Given the description of an element on the screen output the (x, y) to click on. 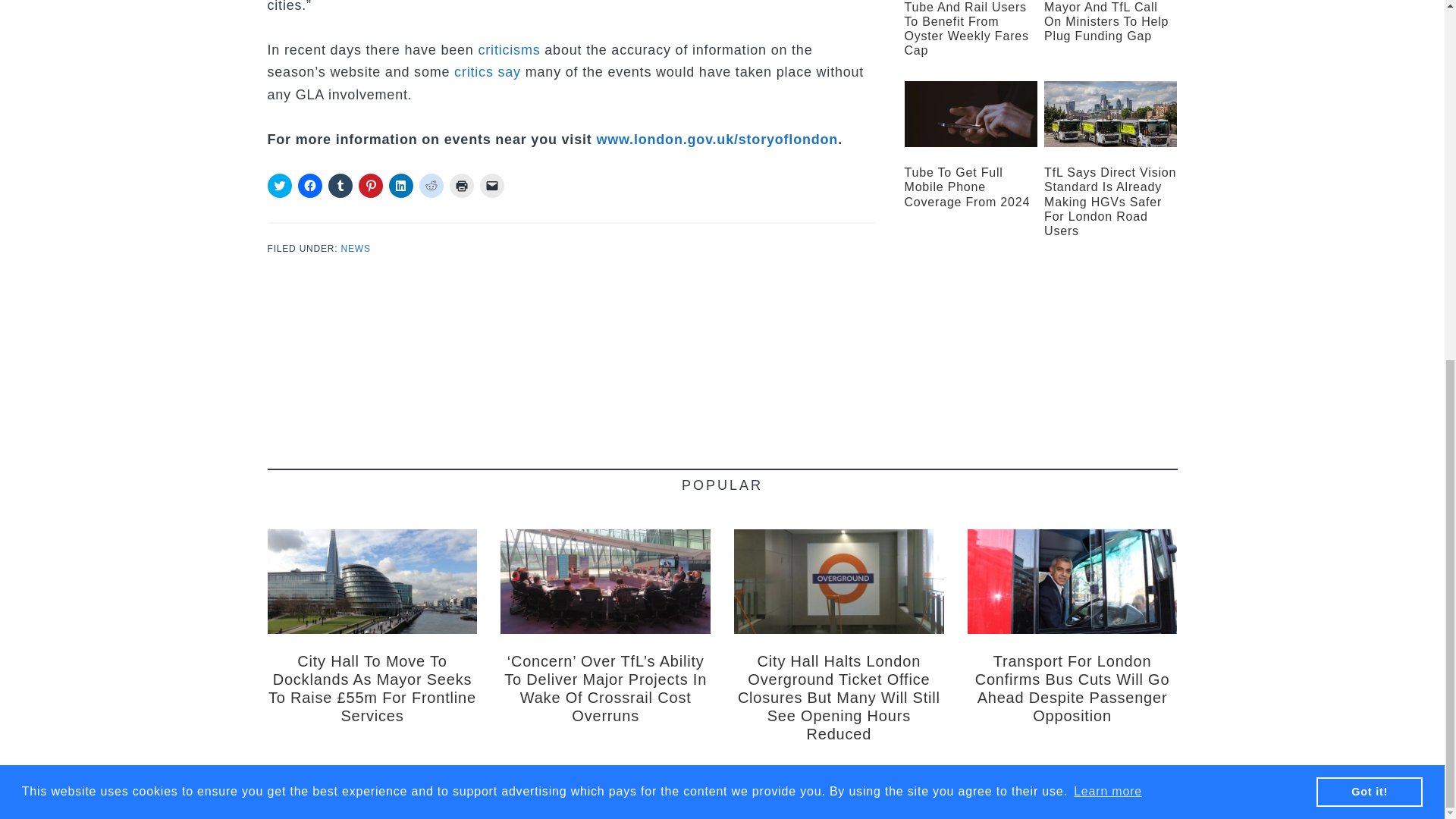
Tube and rail users to benefit from Oyster weekly fares cap (965, 28)
Click to share on Facebook (309, 185)
Click to share on Reddit (430, 185)
Click to share on Pinterest (369, 185)
critics say (487, 71)
Got it! (1369, 153)
TERMS OF USE (727, 791)
Click to email a link to a friend (491, 185)
PRIVACY POLICY (804, 791)
Click to share on Tumblr (339, 185)
Click to print (460, 185)
Click to share on Twitter (278, 185)
Click to share on LinkedIn (400, 185)
